Given the description of an element on the screen output the (x, y) to click on. 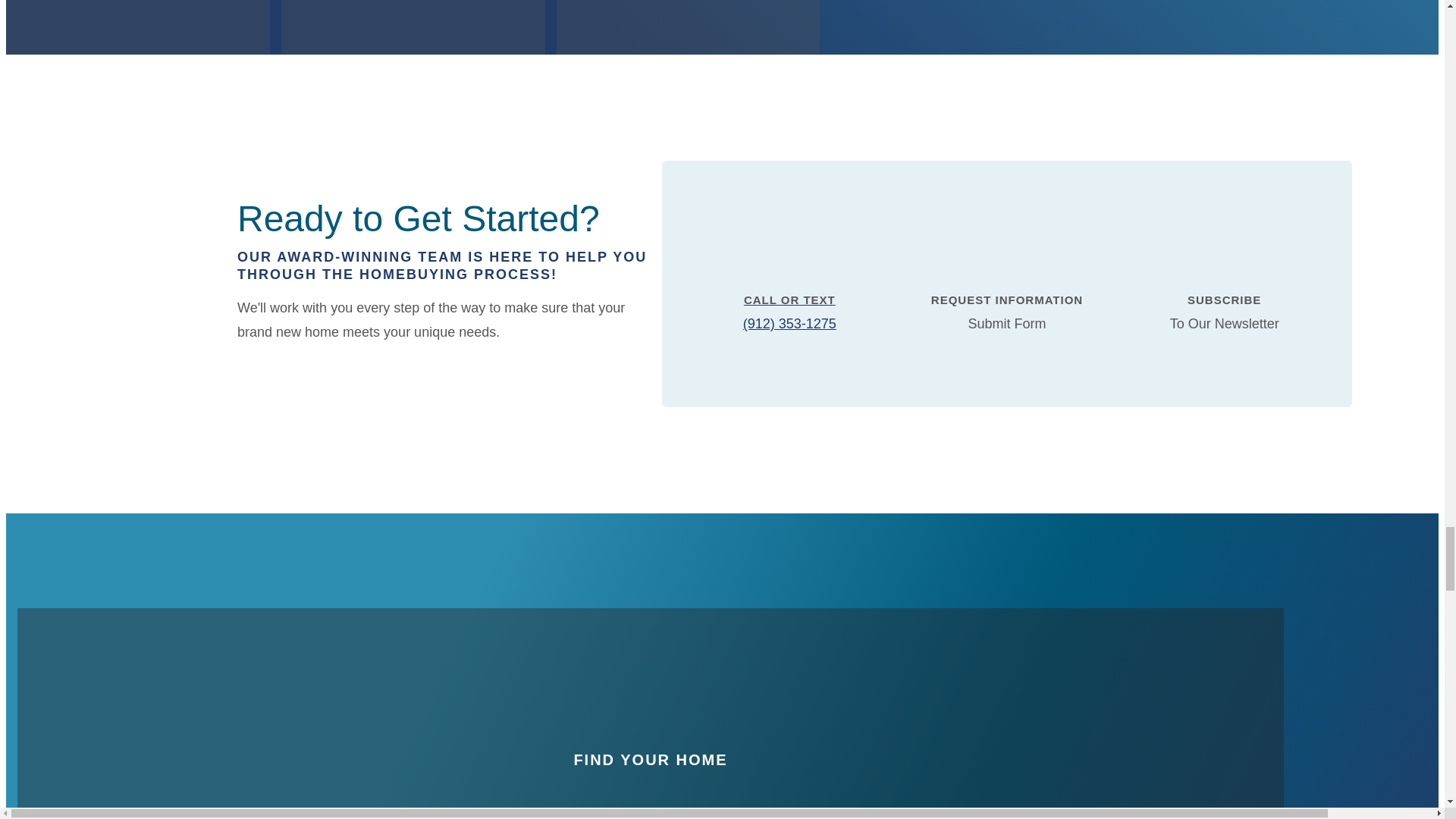
OUTDOOR AREAS (137, 27)
ENTRYWAYS (412, 27)
MUDROOM (688, 27)
